Given the description of an element on the screen output the (x, y) to click on. 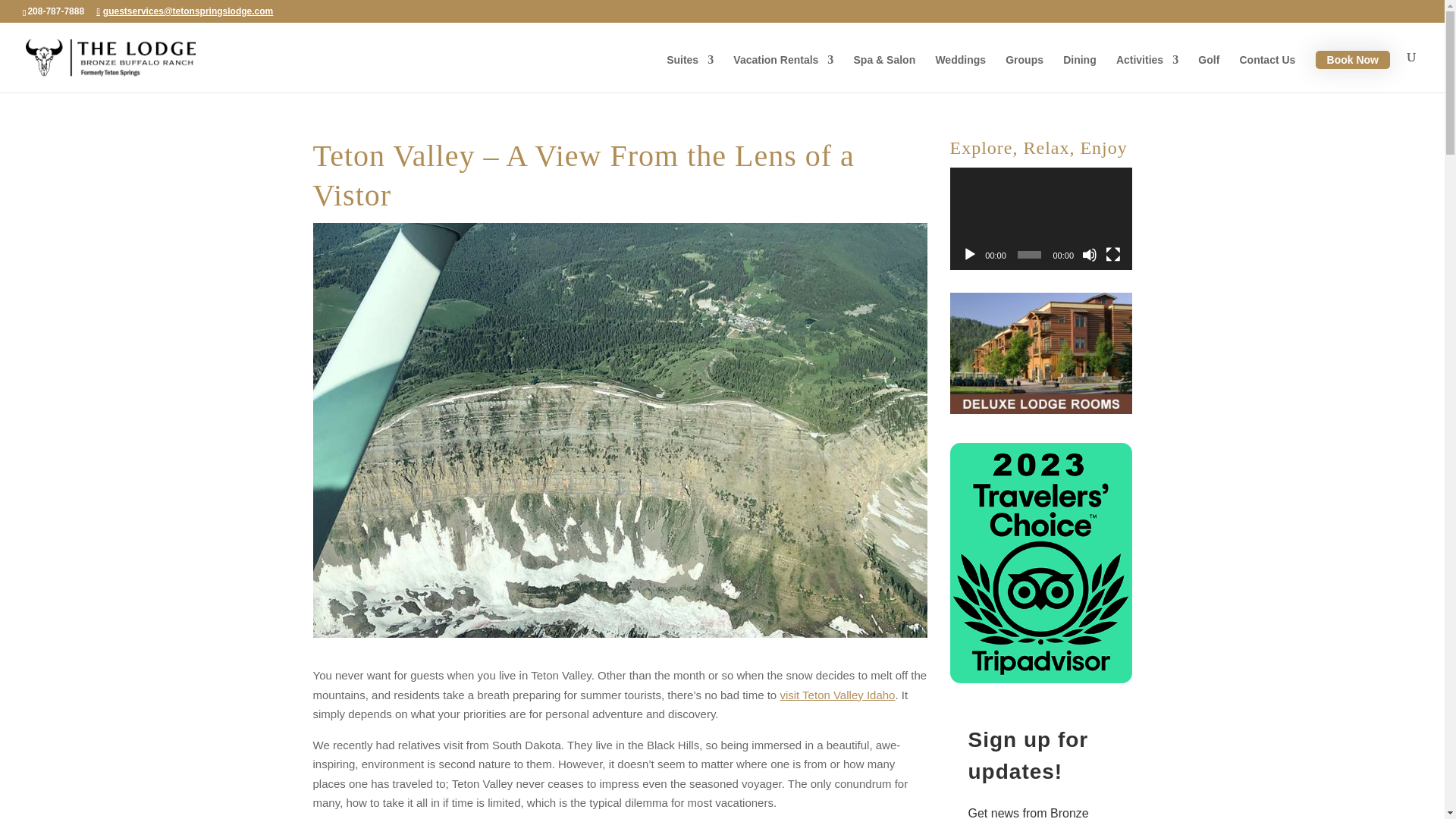
Suites (689, 73)
Activities (1146, 73)
Vacation Rentals (782, 73)
Weddings (959, 73)
Groups (1024, 73)
Fullscreen (1113, 254)
Play (968, 254)
Mute (1089, 254)
